Given the description of an element on the screen output the (x, y) to click on. 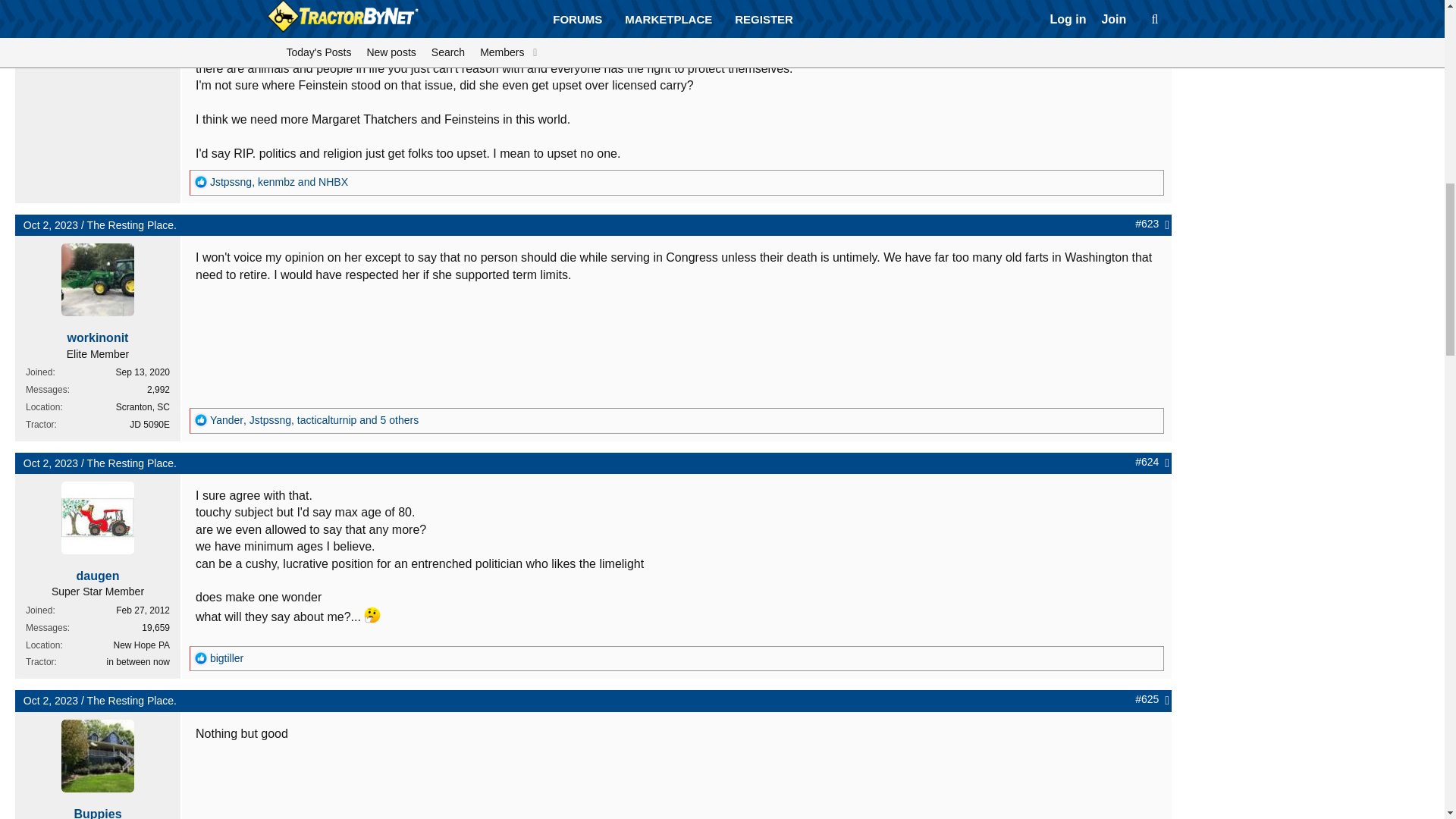
Oct 2, 2023 at 6:04 AM (50, 463)
Oct 2, 2023 at 5:53 AM (50, 224)
Good Post (200, 419)
Unsure    :unsure: (372, 614)
Good Post (200, 657)
Good Post (200, 182)
